Given the description of an element on the screen output the (x, y) to click on. 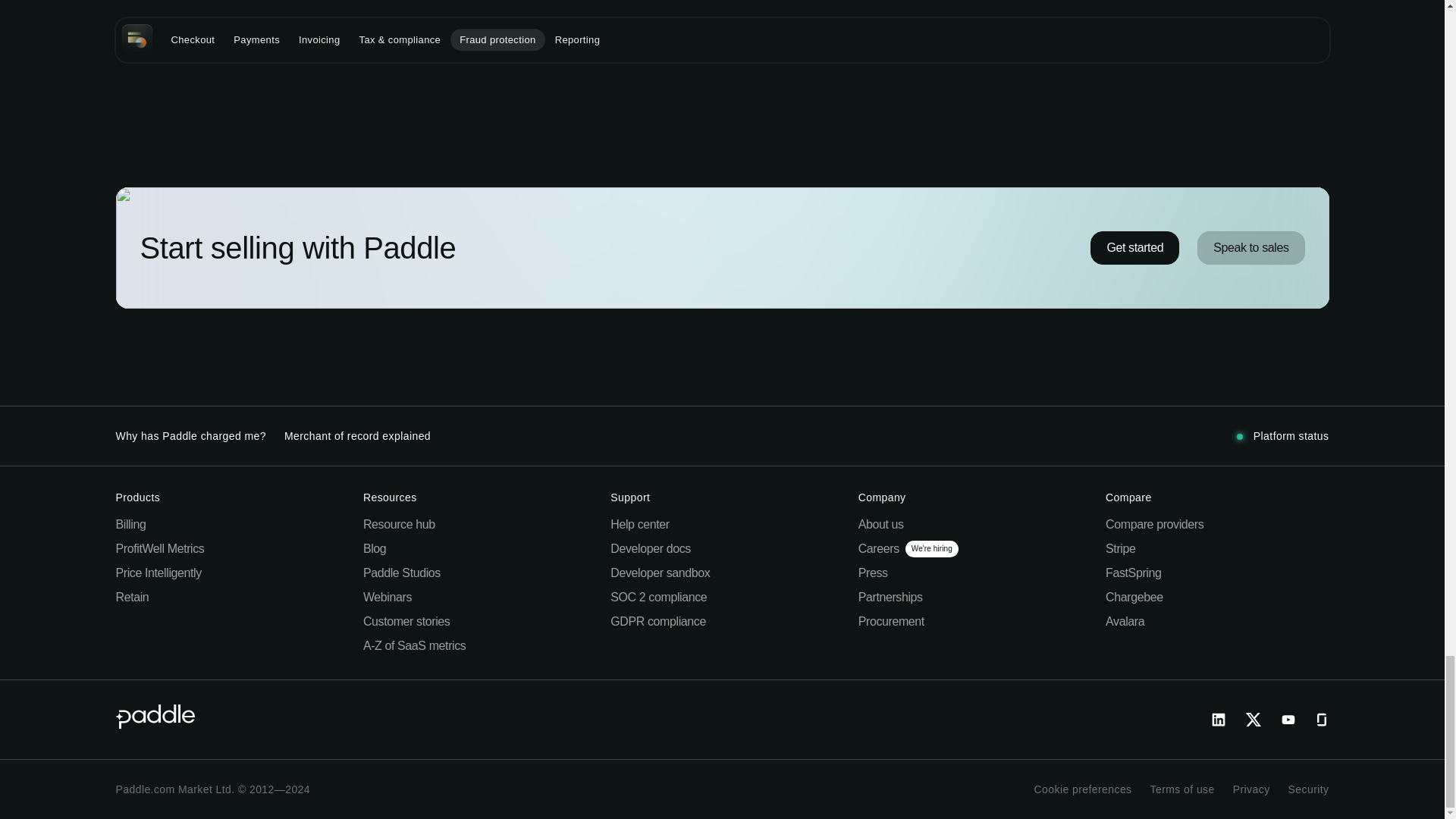
Twitter (1252, 719)
YouTube (1287, 719)
LinkedIn (1217, 719)
Glassdoor (1320, 719)
